Given the description of an element on the screen output the (x, y) to click on. 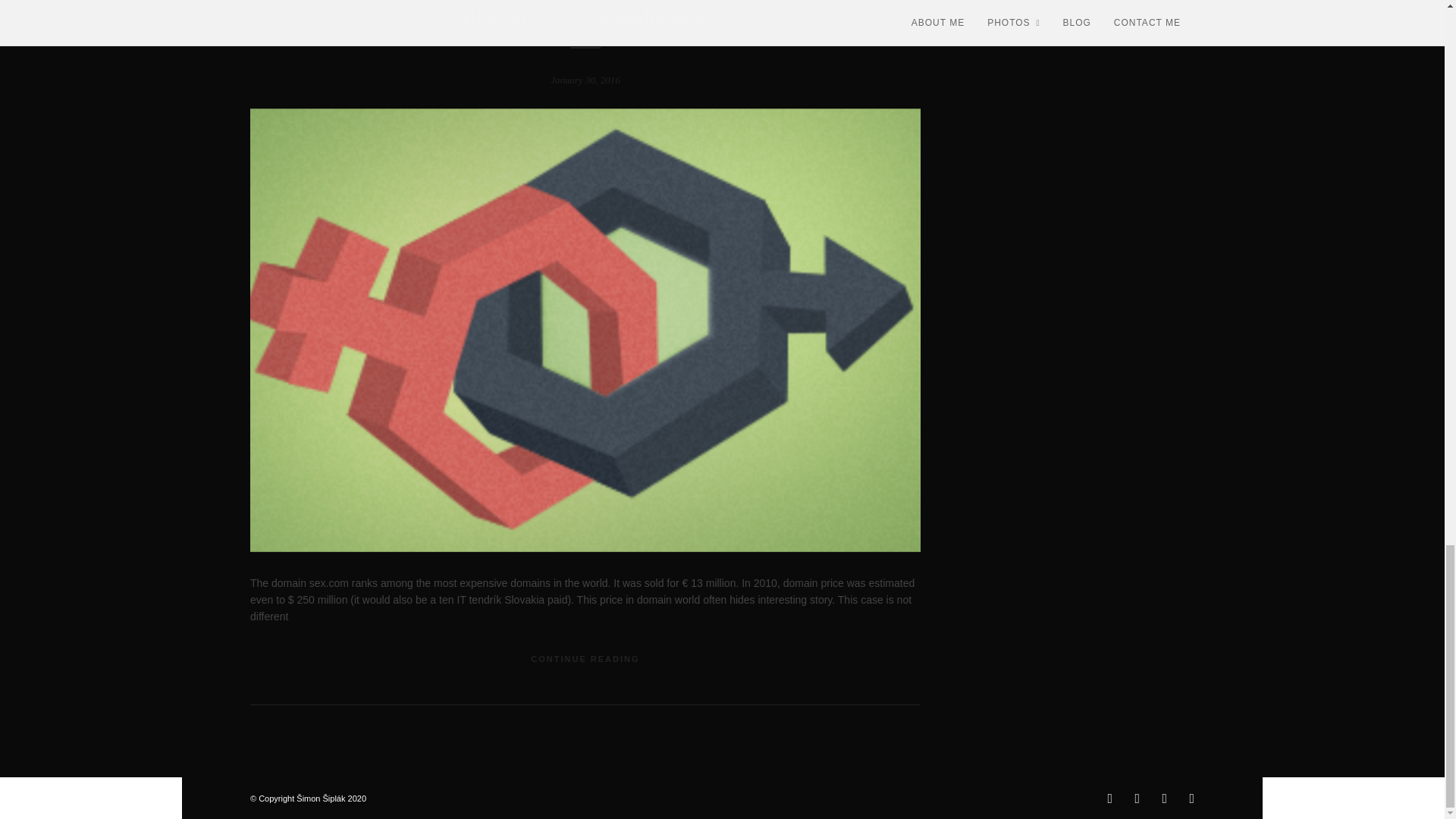
CONTINUE READING (585, 658)
HISTORY OF DOMAIN SEX (585, 16)
History of domain sex (585, 16)
